Given the description of an element on the screen output the (x, y) to click on. 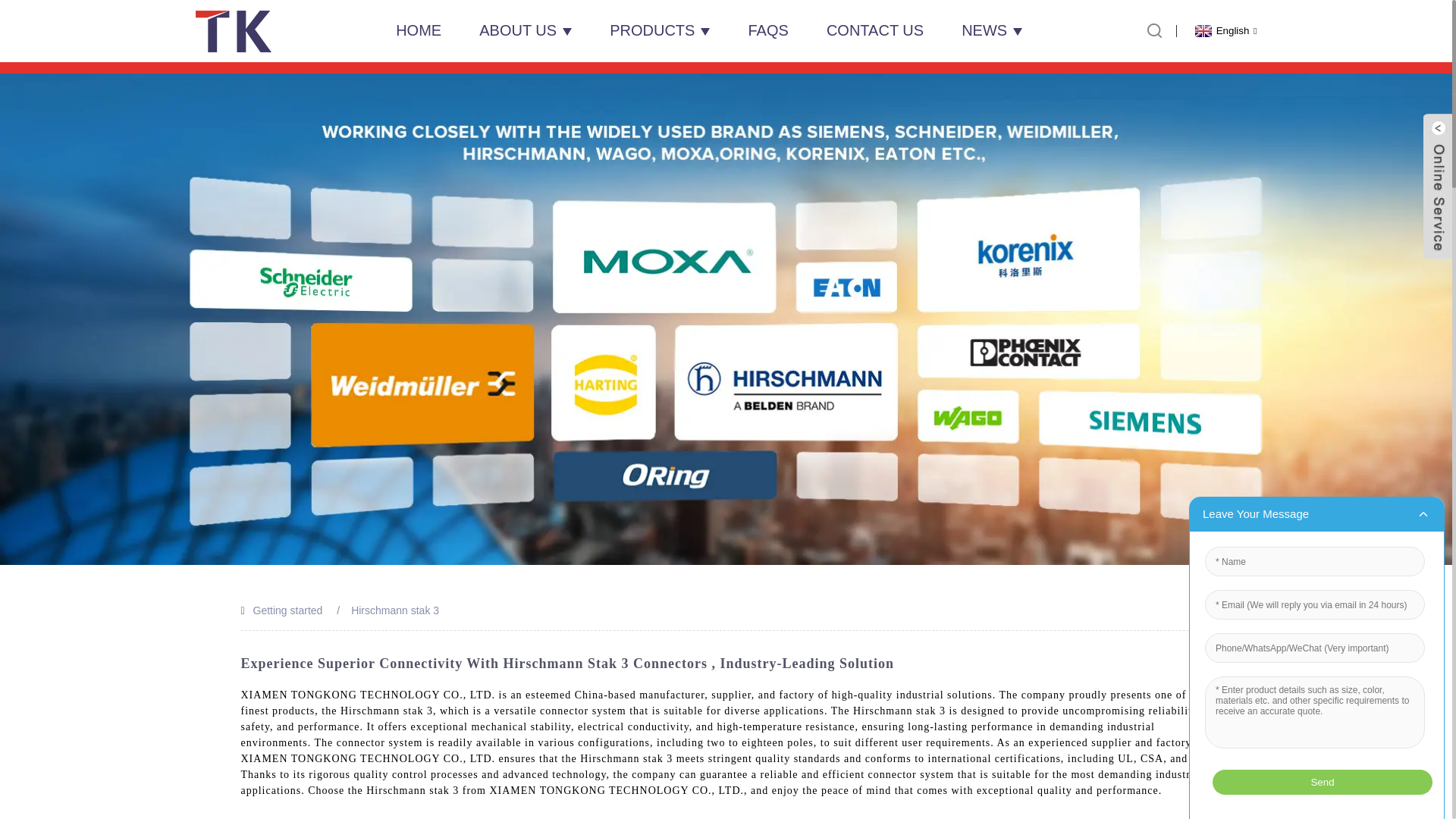
English (1224, 30)
Hirschmann stak 3 (394, 610)
ABOUT US (525, 30)
Getting started (288, 610)
NEWS (991, 30)
PRODUCTS (660, 30)
CONTACT US (875, 30)
